Given the description of an element on the screen output the (x, y) to click on. 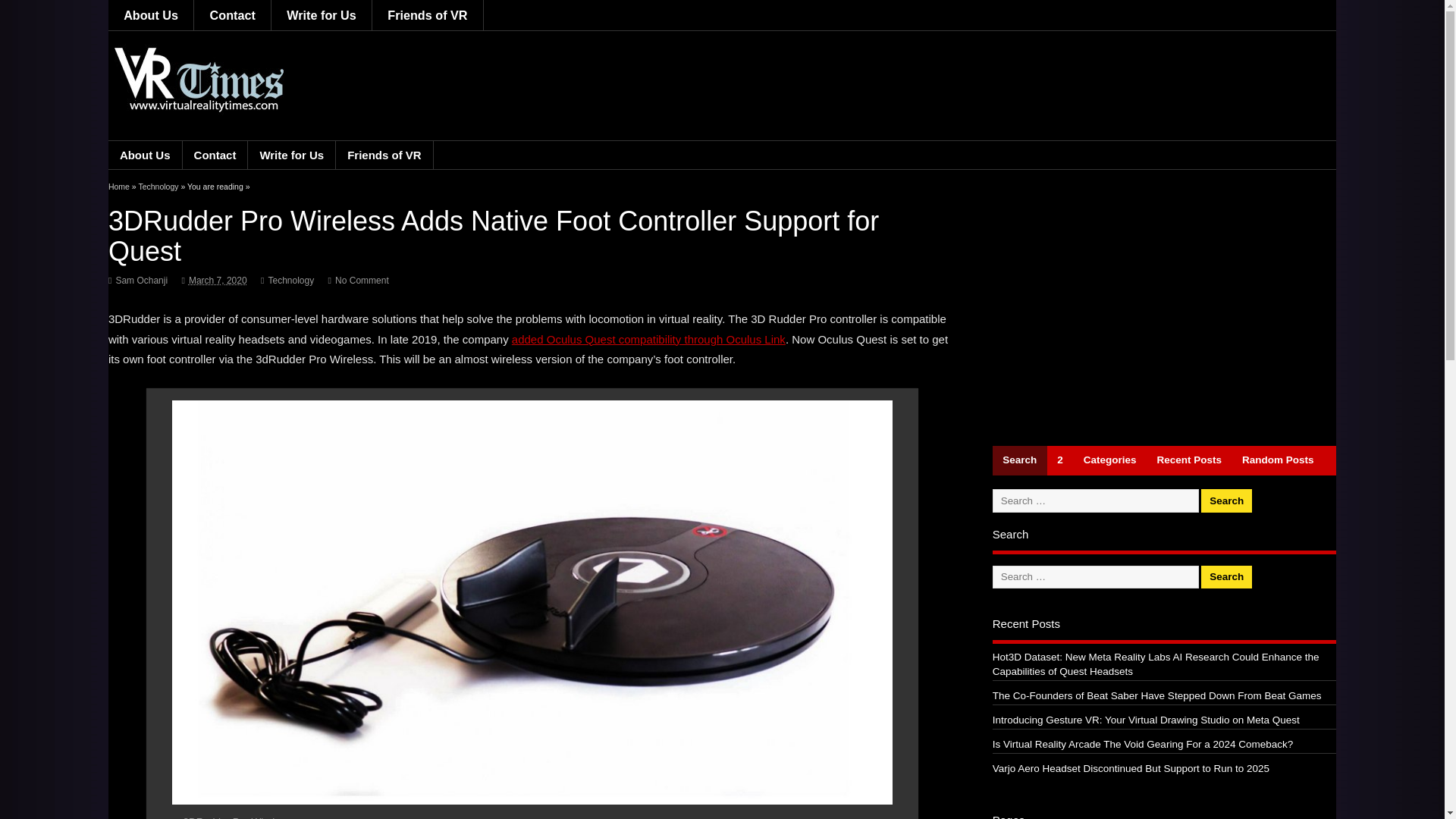
Search (1226, 500)
Posts by Sam Ochanji (141, 280)
Search (1226, 576)
2 (1060, 460)
Contact (231, 15)
Search (1226, 500)
Search (1019, 460)
Friends of VR (427, 15)
Recent Posts (1189, 460)
Search (1226, 576)
Advertisement (1163, 312)
Write for Us (321, 15)
About Us (150, 15)
Categories (1110, 460)
